Given the description of an element on the screen output the (x, y) to click on. 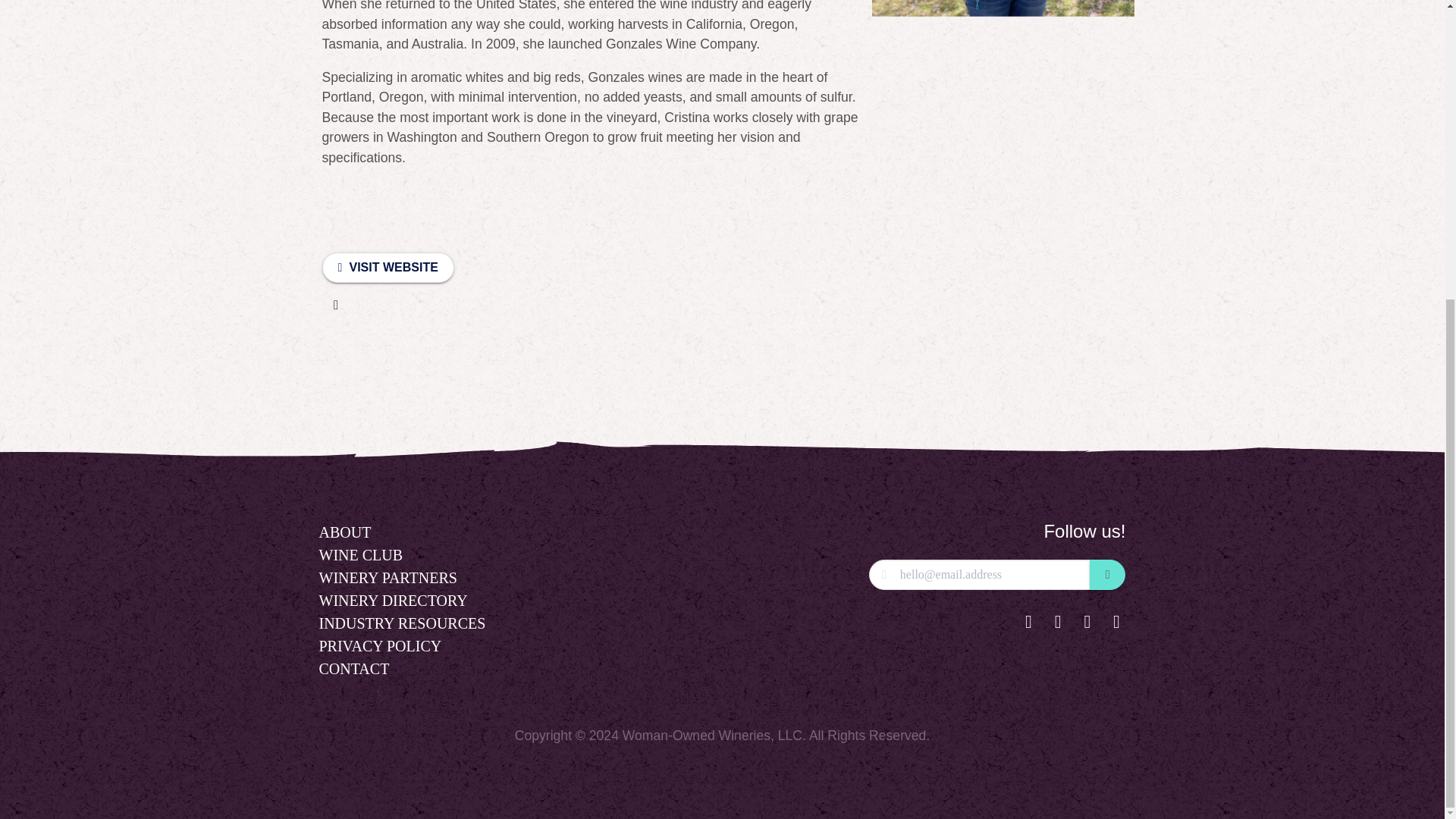
CONTACT (353, 668)
WINE CLUB (360, 554)
ABOUT (344, 531)
WINERY DIRECTORY (392, 599)
PRIVACY POLICY (379, 645)
WINERY PARTNERS (387, 577)
INDUSTRY RESOURCES (401, 622)
VISIT WEBSITE (386, 267)
